Given the description of an element on the screen output the (x, y) to click on. 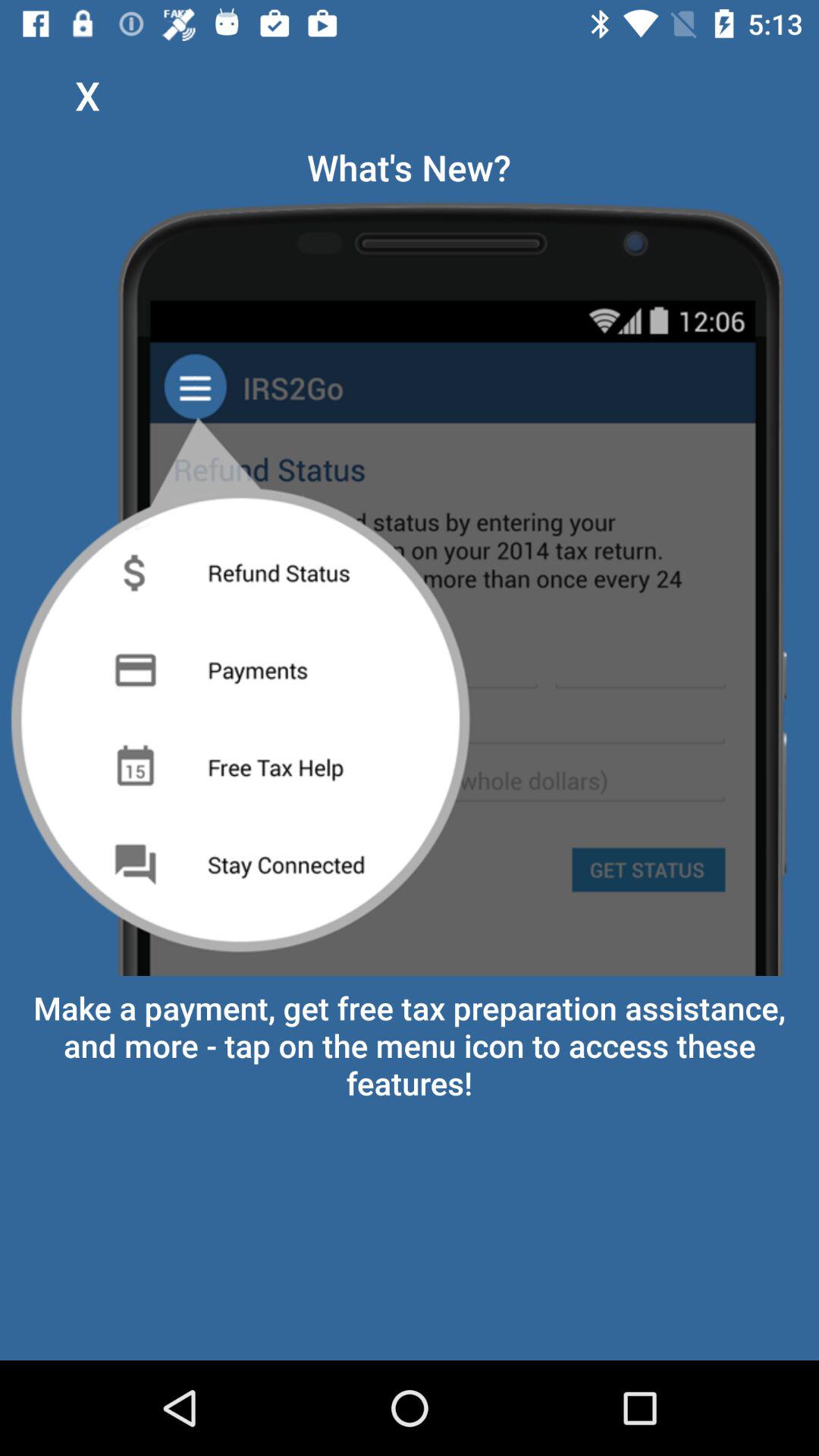
press the icon at the center (409, 583)
